Given the description of an element on the screen output the (x, y) to click on. 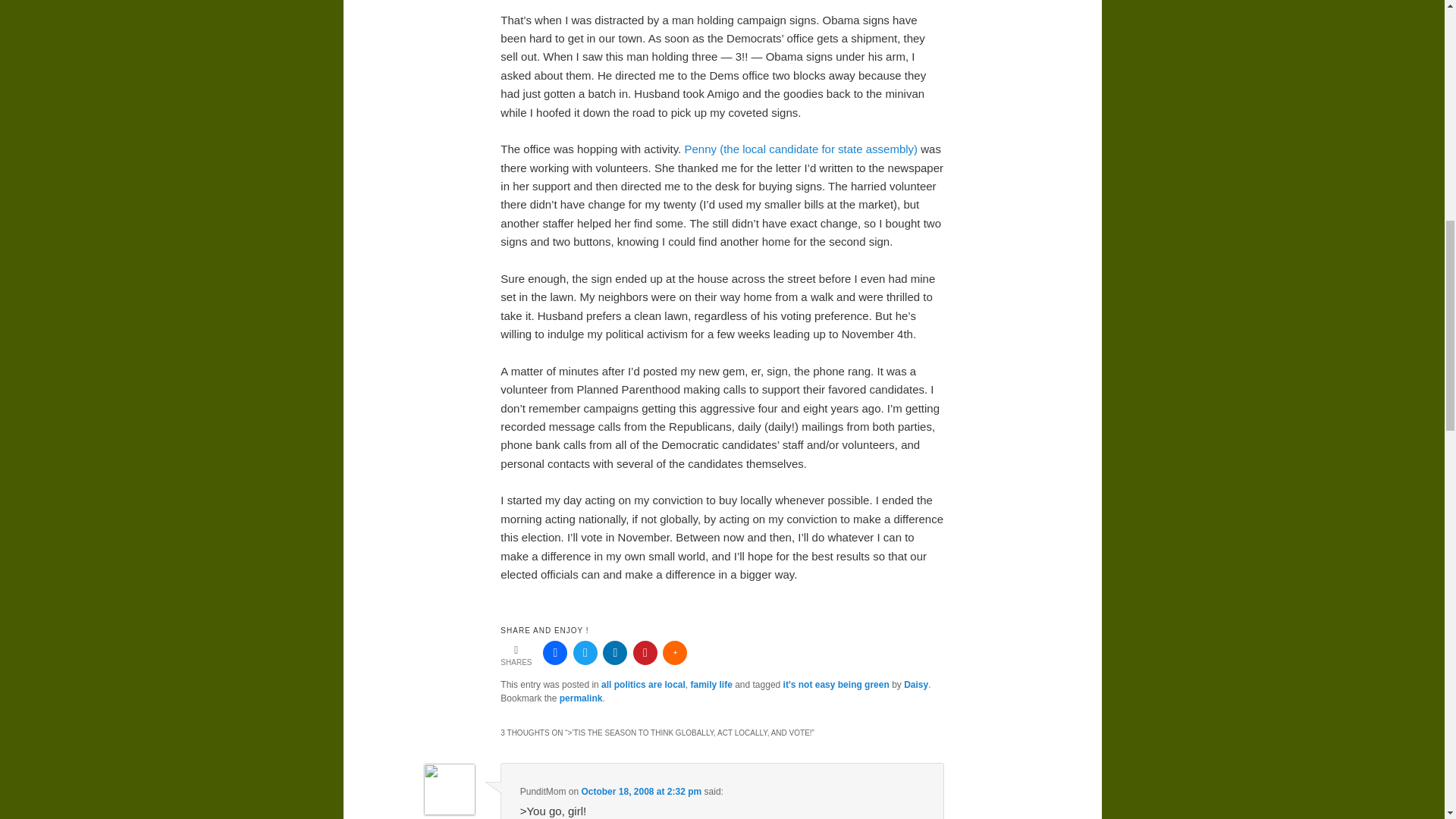
permalink (580, 697)
More share links (674, 652)
family life (711, 684)
October 18, 2008 at 2:32 pm (640, 791)
Share this on Facebook (555, 652)
Tweet this ! (584, 652)
Add this to LinkedIn (614, 652)
all politics are local (643, 684)
Submit this to Pinterest (645, 652)
Daisy (916, 684)
it's not easy being green (836, 684)
